Given the description of an element on the screen output the (x, y) to click on. 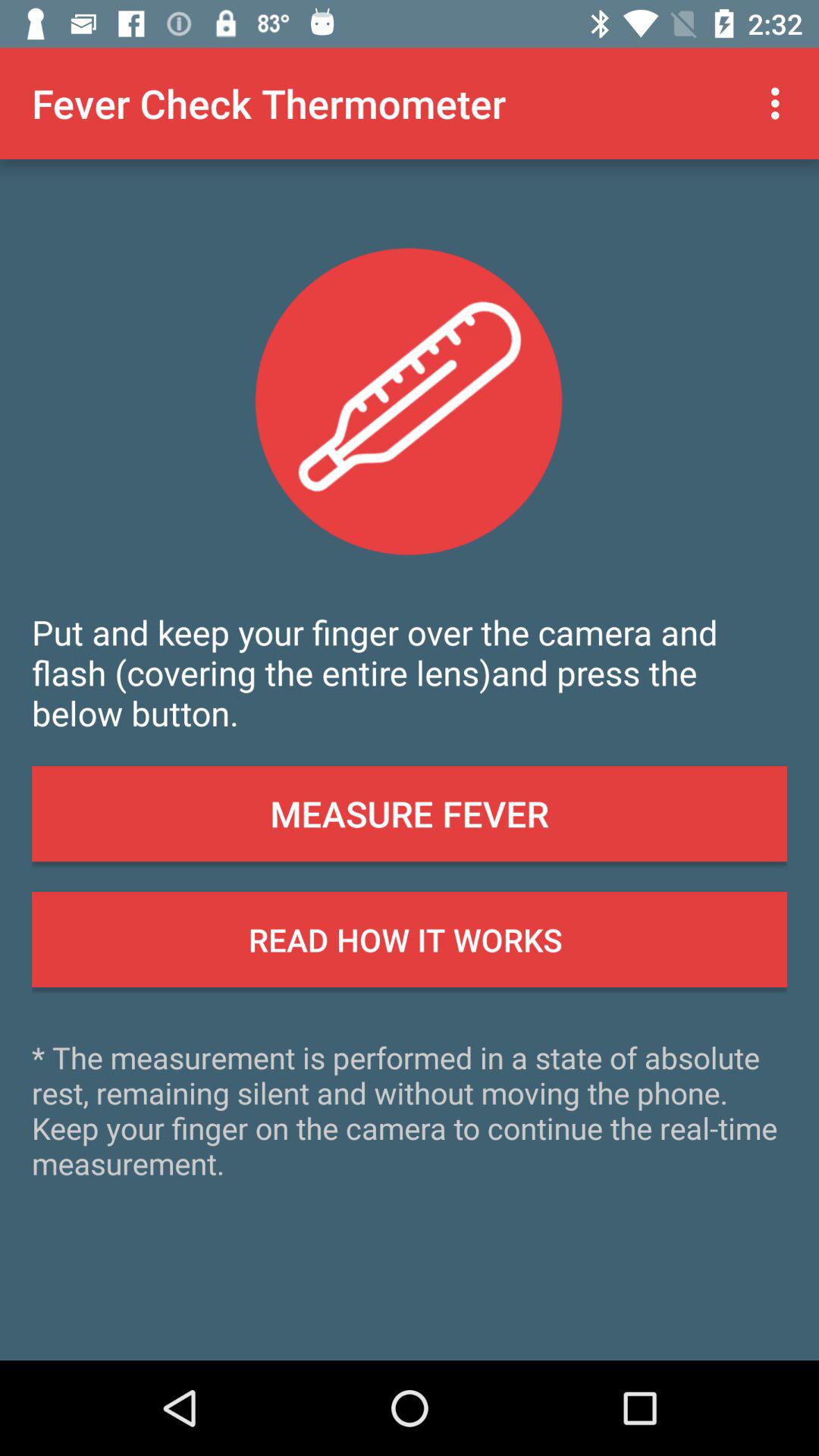
open icon above the put and keep icon (779, 103)
